Given the description of an element on the screen output the (x, y) to click on. 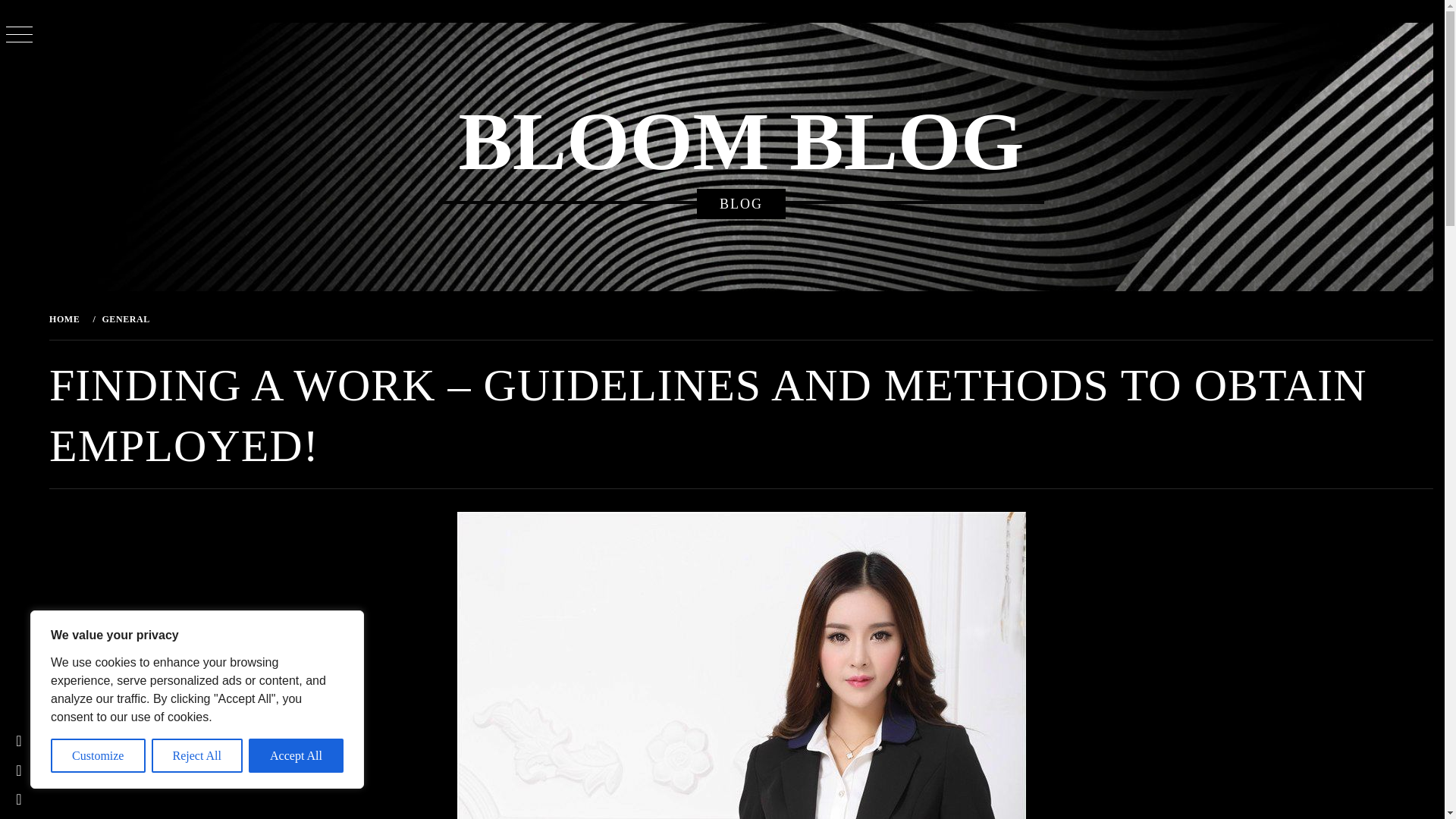
HOME (66, 318)
Accept All (295, 755)
Reject All (197, 755)
Customize (97, 755)
GENERAL (124, 318)
BLOOM BLOG (740, 141)
